Given the description of an element on the screen output the (x, y) to click on. 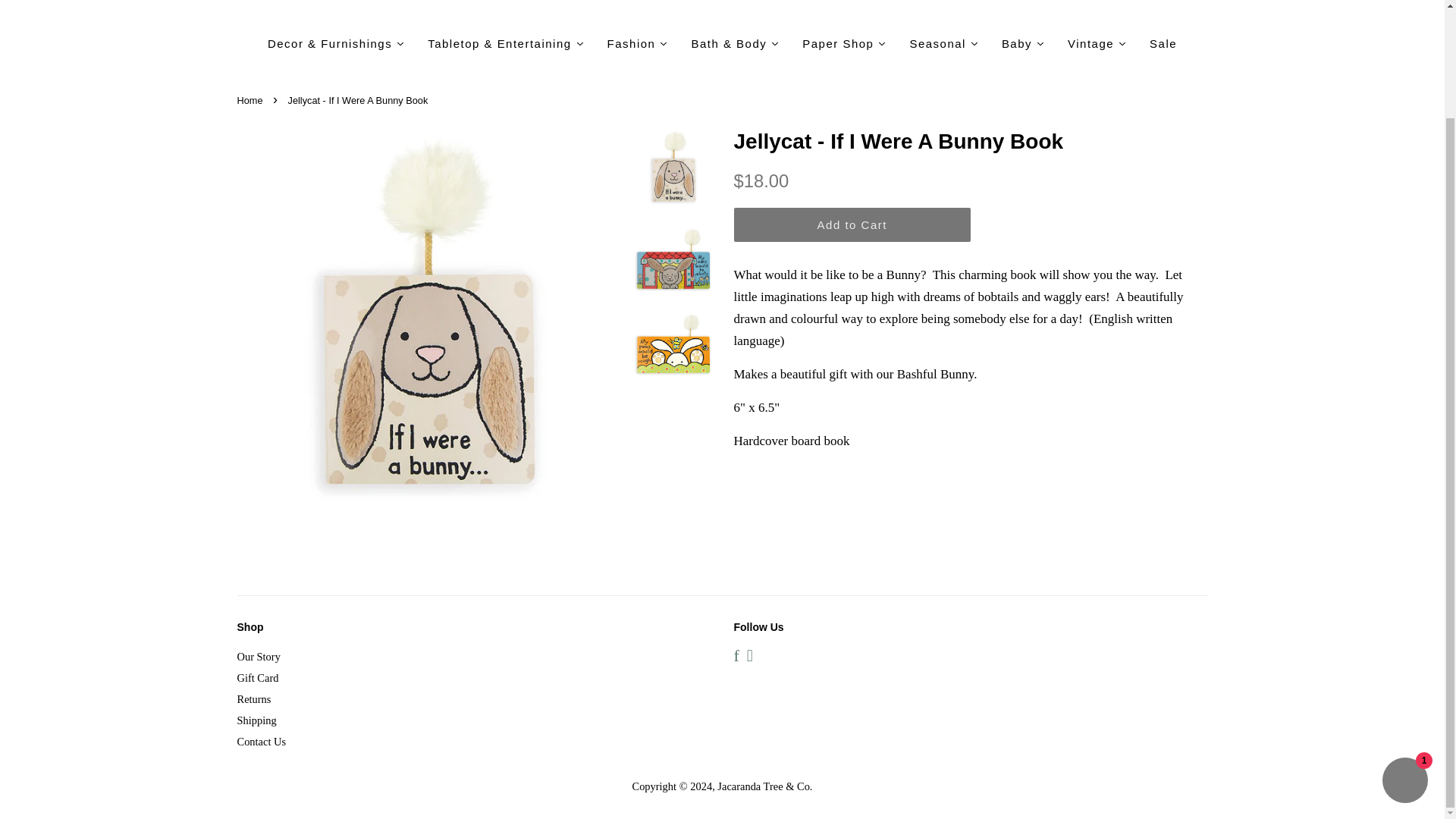
Seasonal (944, 43)
Sale (1163, 43)
Back to the frontpage (250, 100)
Baby (1023, 43)
Fashion (637, 43)
Paper Shop (844, 43)
Vintage (1097, 43)
